Given the description of an element on the screen output the (x, y) to click on. 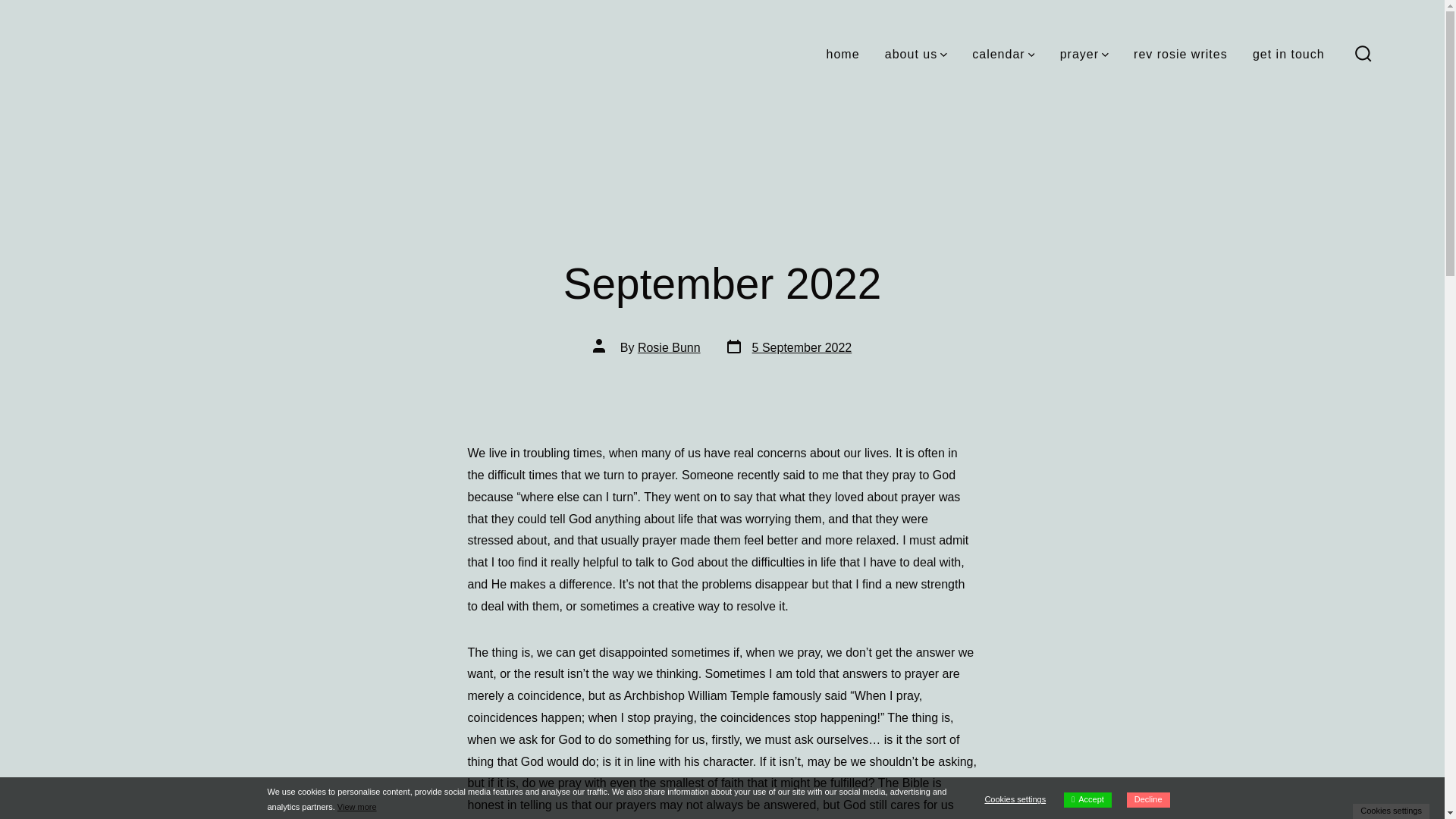
rev rosie writes (1180, 55)
Rosie Bunn (668, 347)
get in touch (1288, 55)
about us (916, 55)
prayer (788, 347)
search toggle (1083, 55)
home (1362, 54)
calendar (843, 55)
